Given the description of an element on the screen output the (x, y) to click on. 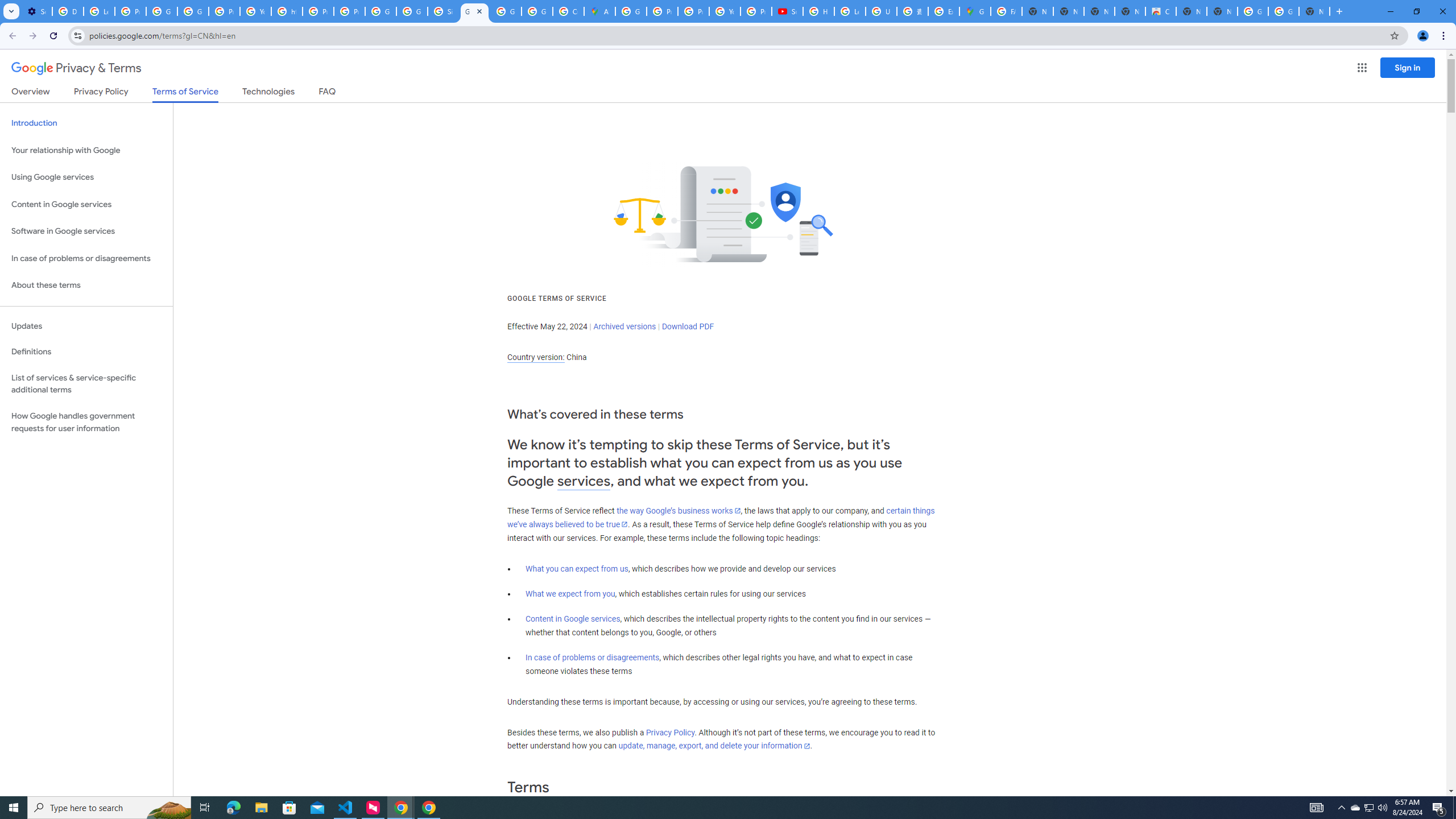
services (583, 480)
Create your Google Account (568, 11)
Archived versions (624, 326)
Privacy Help Center - Policies Help (662, 11)
Google Images (1283, 11)
Privacy Help Center - Policies Help (318, 11)
What we expect from you (570, 593)
What you can expect from us (576, 568)
YouTube (255, 11)
